Given the description of an element on the screen output the (x, y) to click on. 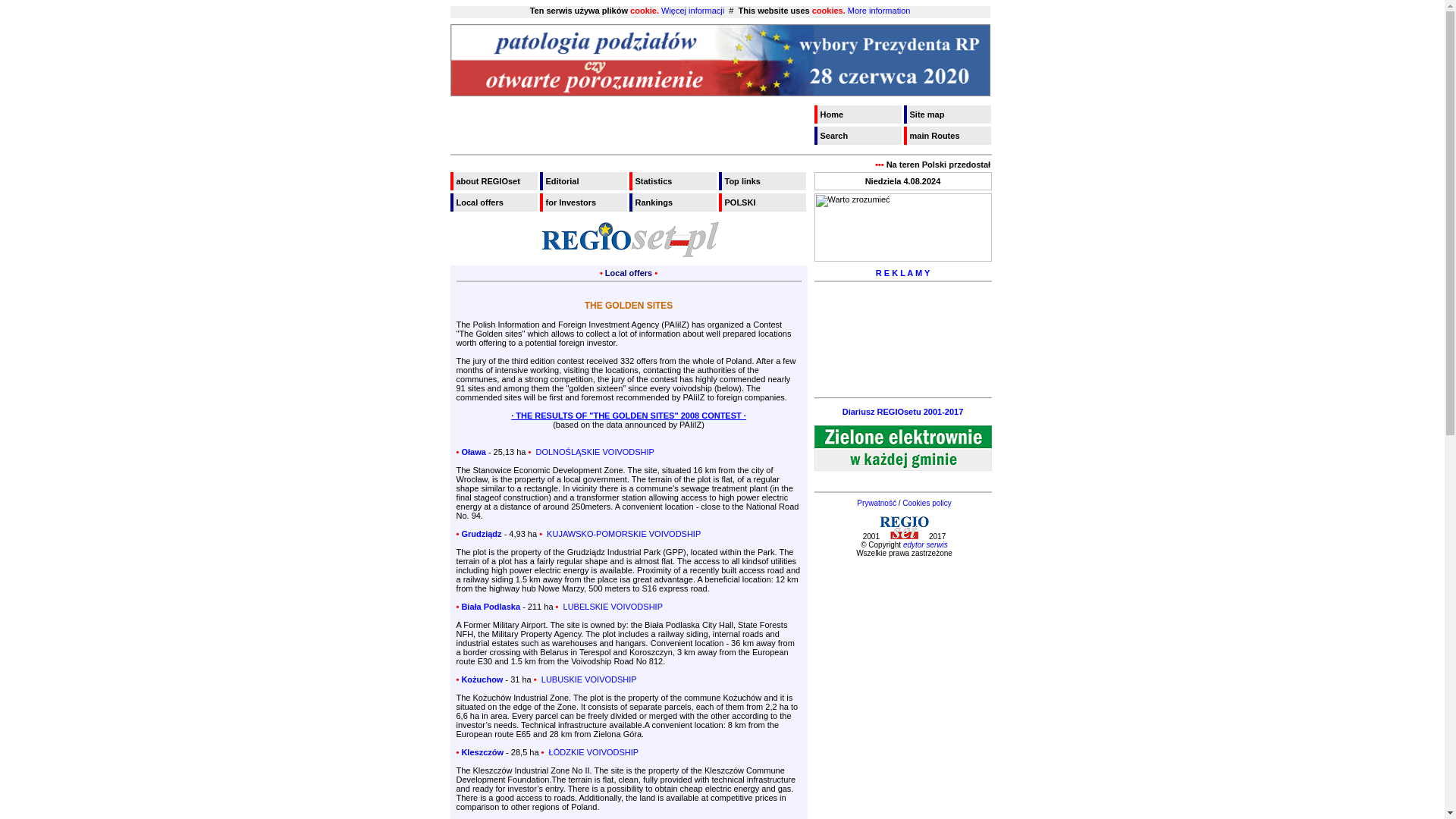
Rankings (673, 202)
POLSKI (763, 202)
Search (858, 135)
Advertisement (902, 370)
Top links (763, 180)
Statistics (673, 180)
Editorial (584, 180)
Advertisement (902, 313)
 LUBELSKIE VOIVODSHIP (611, 605)
Site map (948, 114)
about REGIOset (494, 180)
More information (879, 10)
main Routes (948, 135)
 LUBUSKIE VOIVODSHIP (587, 678)
 KUJAWSKO-POMORSKIE VOIVODSHIP (622, 533)
